Given the description of an element on the screen output the (x, y) to click on. 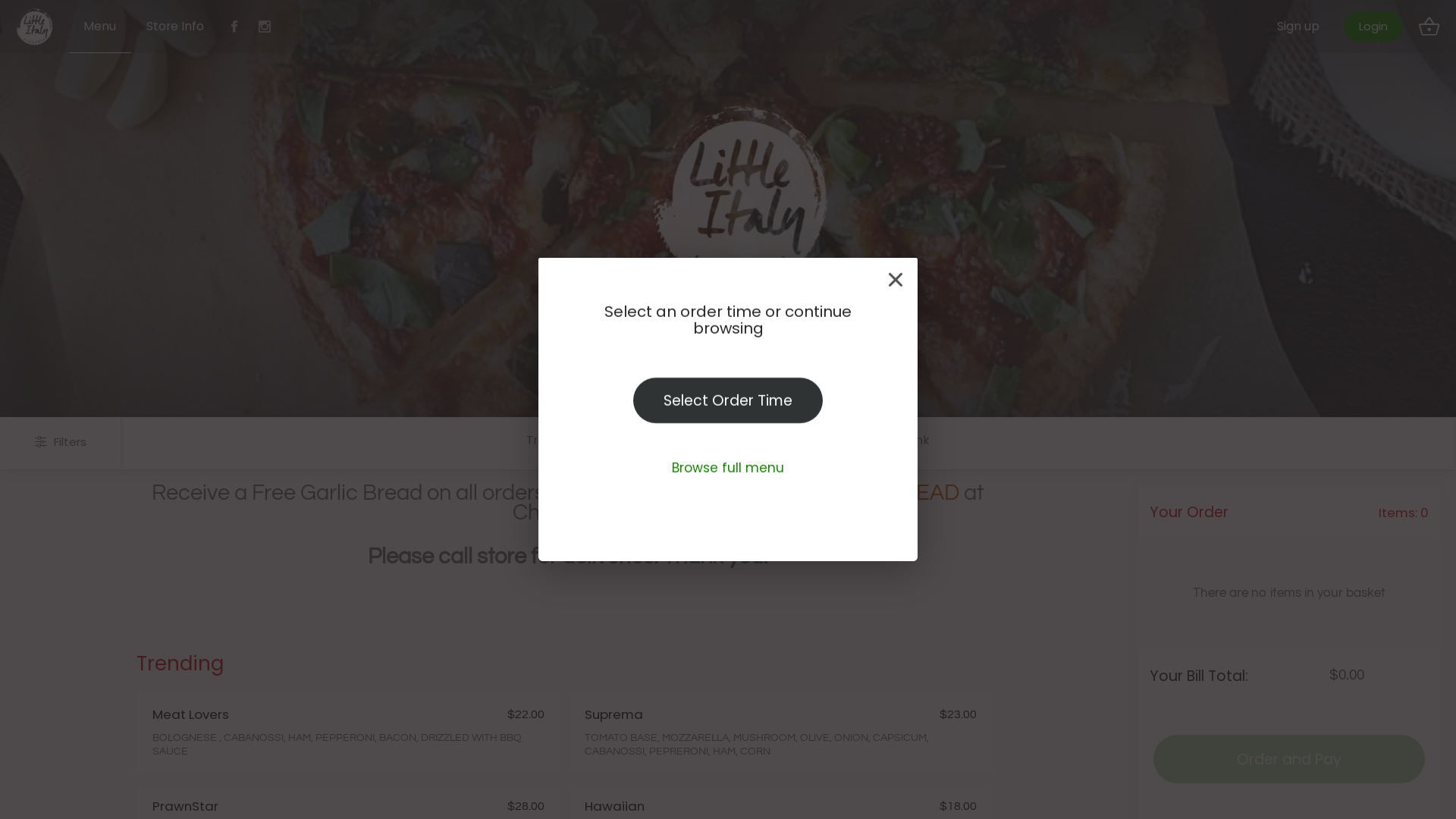
Browse full menu Element type: text (727, 467)
Filters Element type: text (60, 441)
Menu Element type: text (99, 26)
Login Element type: text (1372, 26)
Select Order Time Element type: text (727, 400)
Logo Element type: hover (34, 26)
Little Italy Logo Element type: hover (791, 196)
Store Info Element type: text (175, 26)
Order and Pay Element type: text (1288, 758)
HungryHungry logo Element type: hover (724, 209)
Sign up Element type: text (1303, 26)
